Given the description of an element on the screen output the (x, y) to click on. 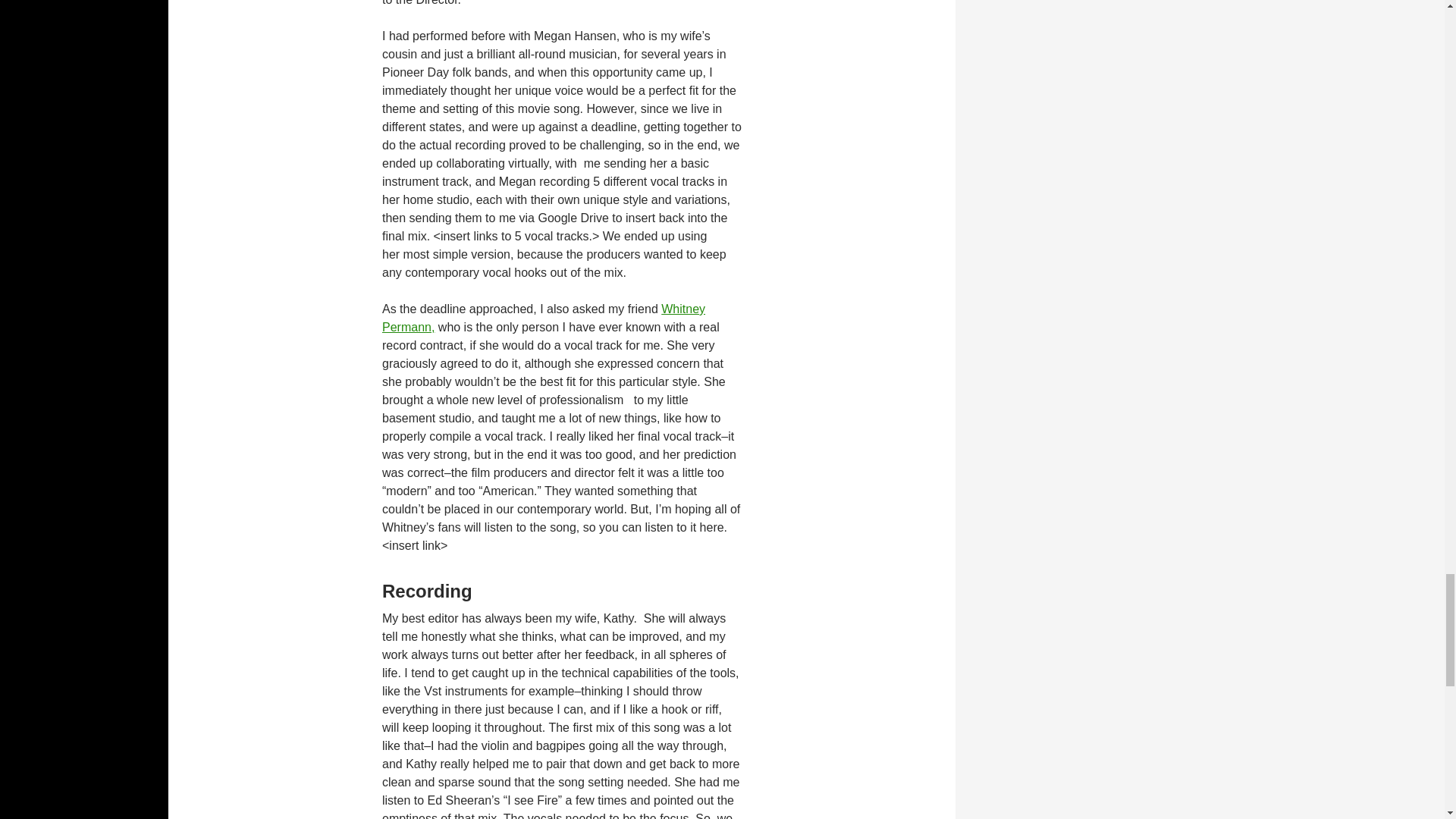
Whitney Permann (542, 317)
Whitney Permann, (542, 317)
